Given the description of an element on the screen output the (x, y) to click on. 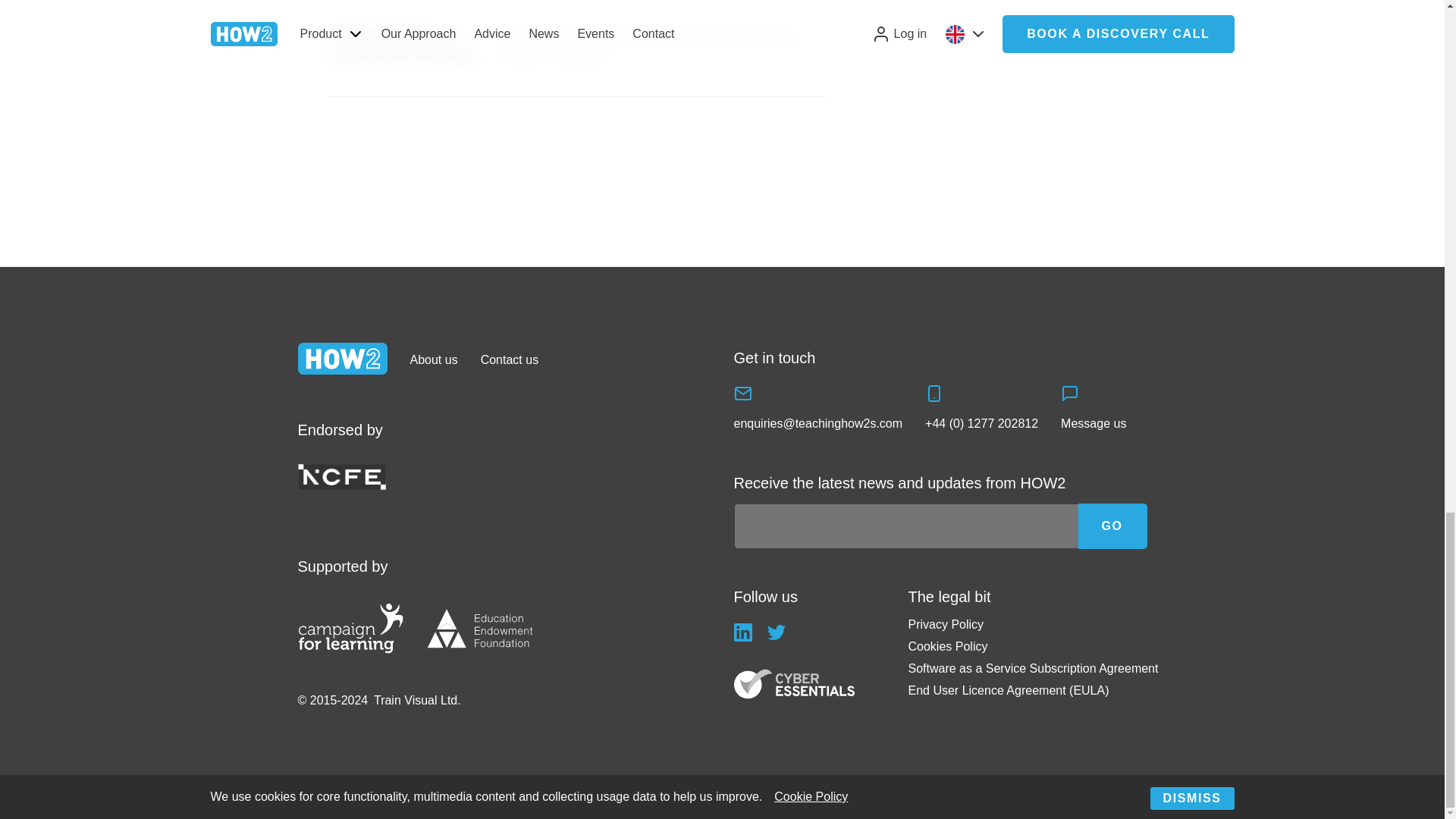
LinkedIn (742, 632)
Twitter (776, 632)
Go (1112, 525)
